Given the description of an element on the screen output the (x, y) to click on. 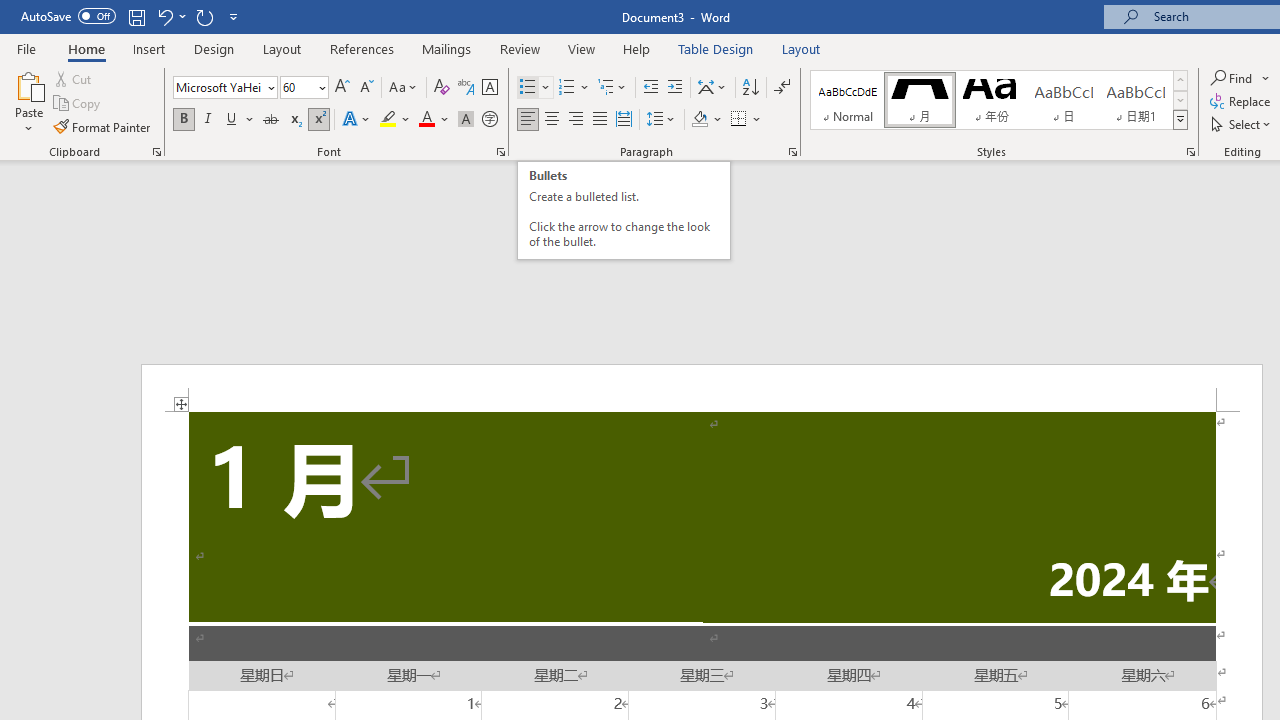
Row Down (1179, 100)
Font Size (297, 87)
Align Right (575, 119)
Subscript (294, 119)
Text Effects and Typography (357, 119)
Text Highlight Color (395, 119)
Center (552, 119)
Borders (746, 119)
Grow Font (342, 87)
Undo Superscript (164, 15)
Bold (183, 119)
Italic (207, 119)
More Options (1266, 78)
Underline (239, 119)
Quick Access Toolbar (131, 16)
